Given the description of an element on the screen output the (x, y) to click on. 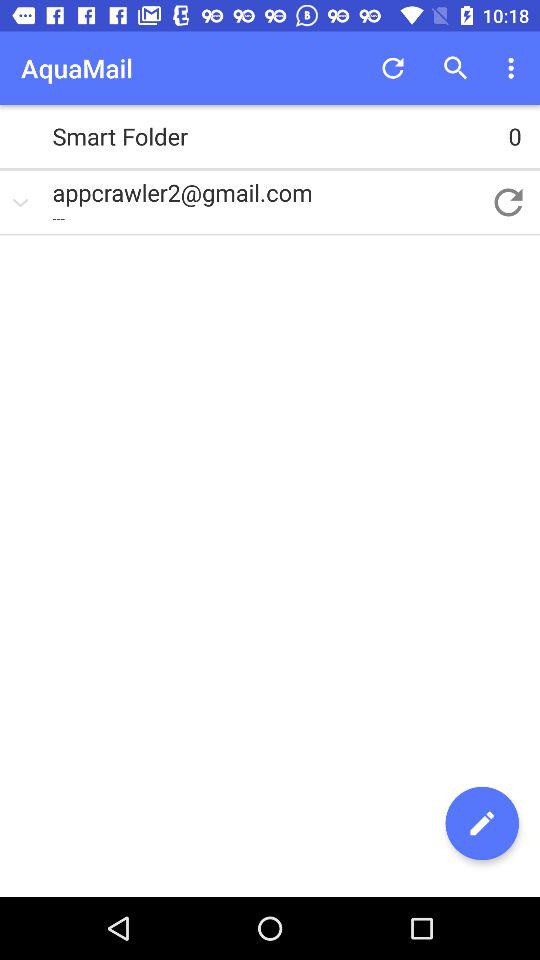
select the item above the smart folder item (513, 67)
